Given the description of an element on the screen output the (x, y) to click on. 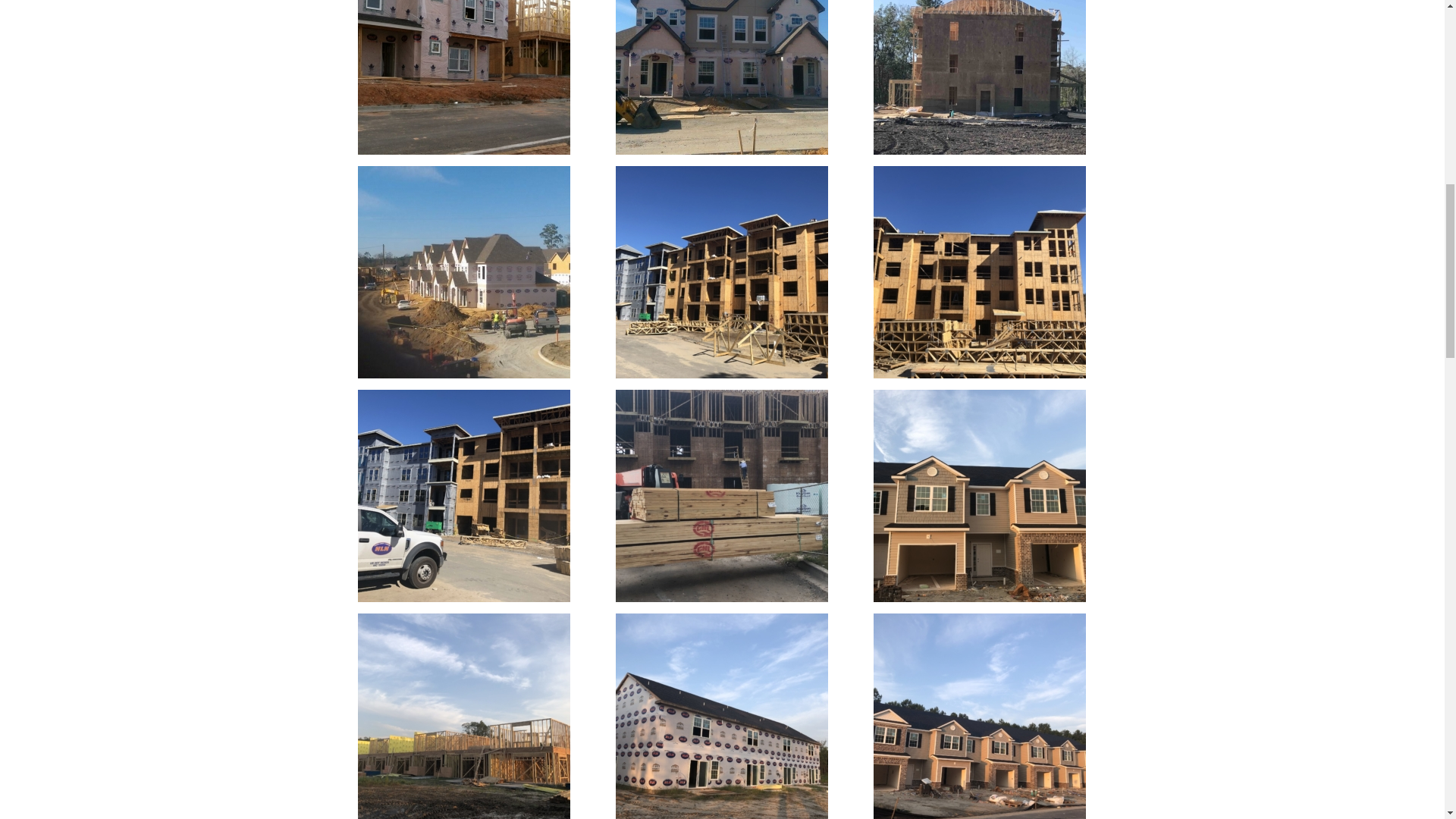
IMG 1735 (979, 77)
HAMPTONS-STATESBORO (721, 77)
IMG 1735 (979, 77)
368 (464, 77)
HAMPTONS-STATESBORO (721, 77)
368 (463, 77)
HAMPTONS-2 (463, 272)
HAMPTONS-2 (464, 272)
